Given the description of an element on the screen output the (x, y) to click on. 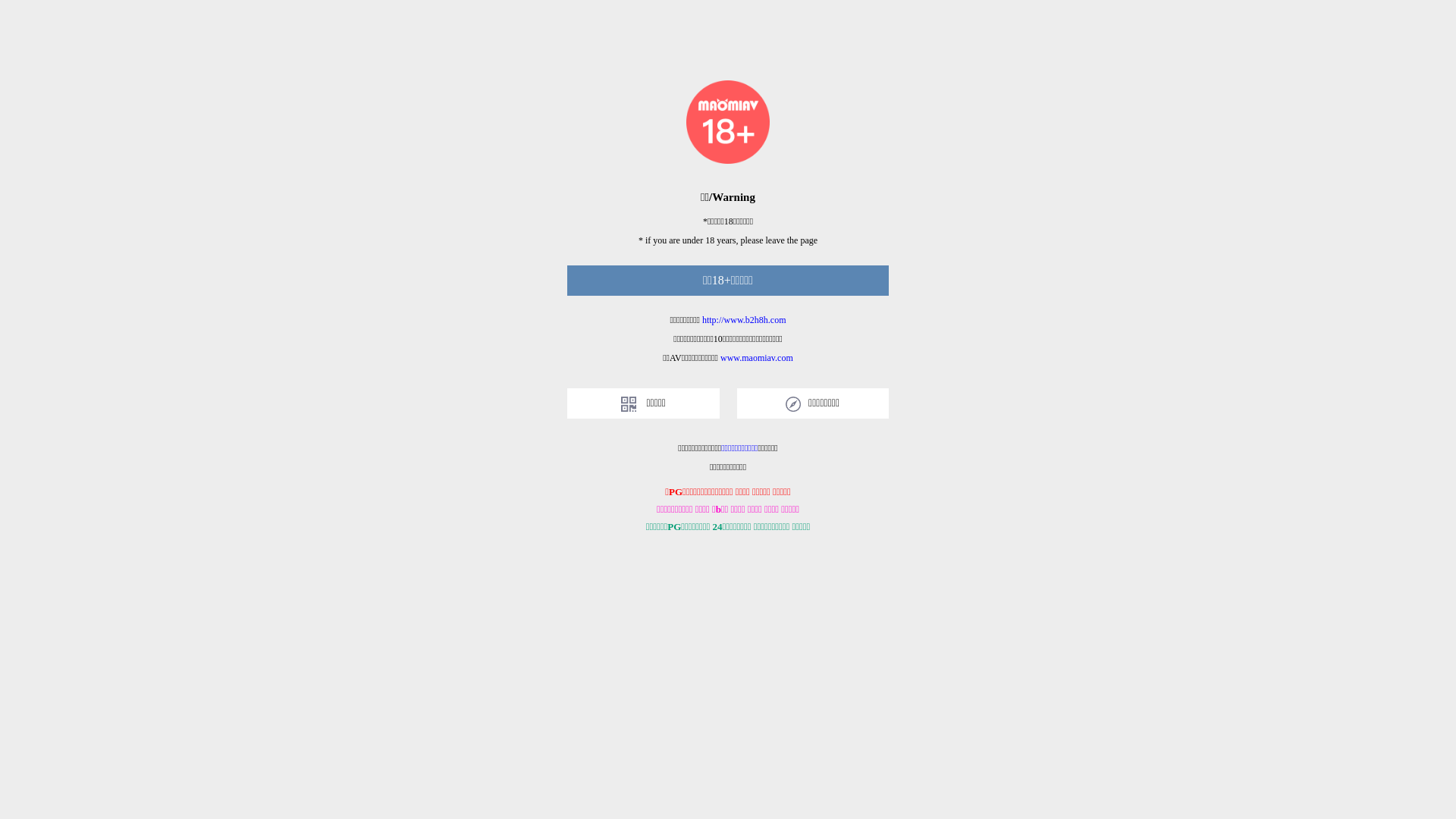
http://www.b2h8h.com Element type: text (744, 319)
www.maomiav.com Element type: text (756, 357)
